Given the description of an element on the screen output the (x, y) to click on. 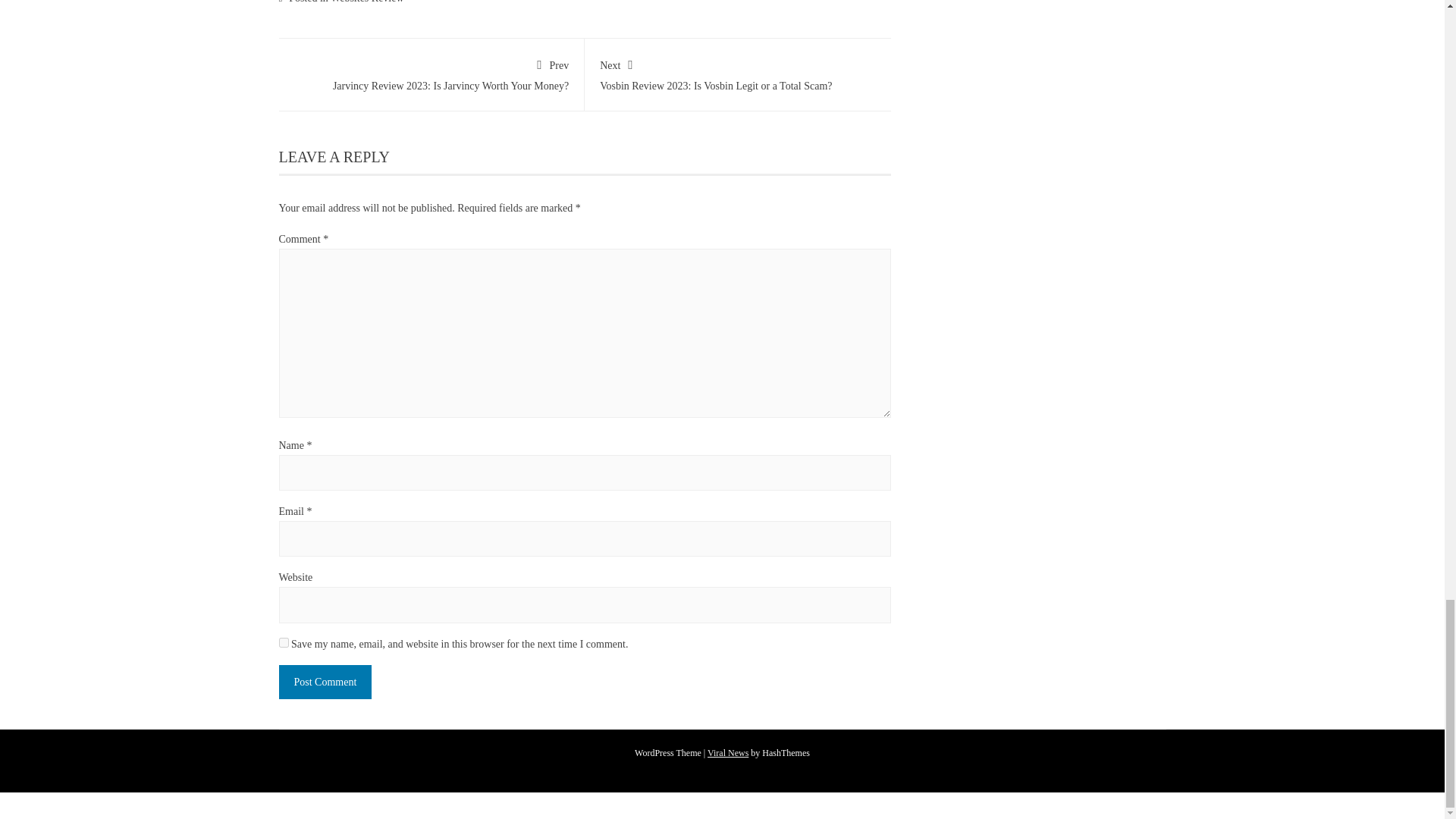
Post Comment (325, 682)
Post Comment (737, 72)
Download Viral News (325, 682)
Websites Review (727, 752)
yes (431, 72)
